Given the description of an element on the screen output the (x, y) to click on. 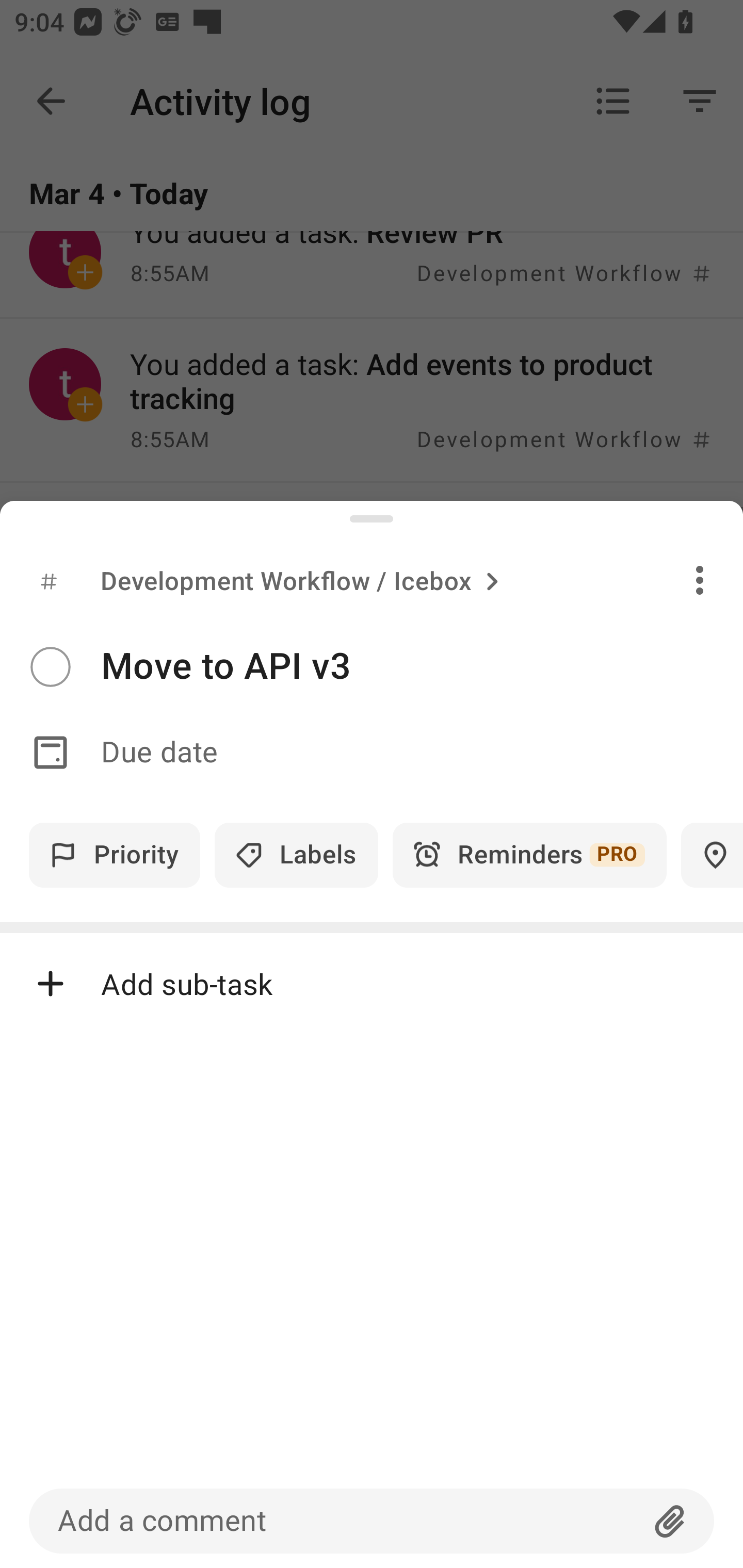
Overflow menu (699, 580)
Complete (50, 667)
Move to API v3​ (422, 666)
Date Due date (371, 752)
Priority (113, 855)
Labels (296, 855)
Reminders PRO (529, 855)
Locations PRO (712, 855)
Add sub-task (371, 983)
Add a comment Attachment (371, 1520)
Attachment (670, 1520)
